Given the description of an element on the screen output the (x, y) to click on. 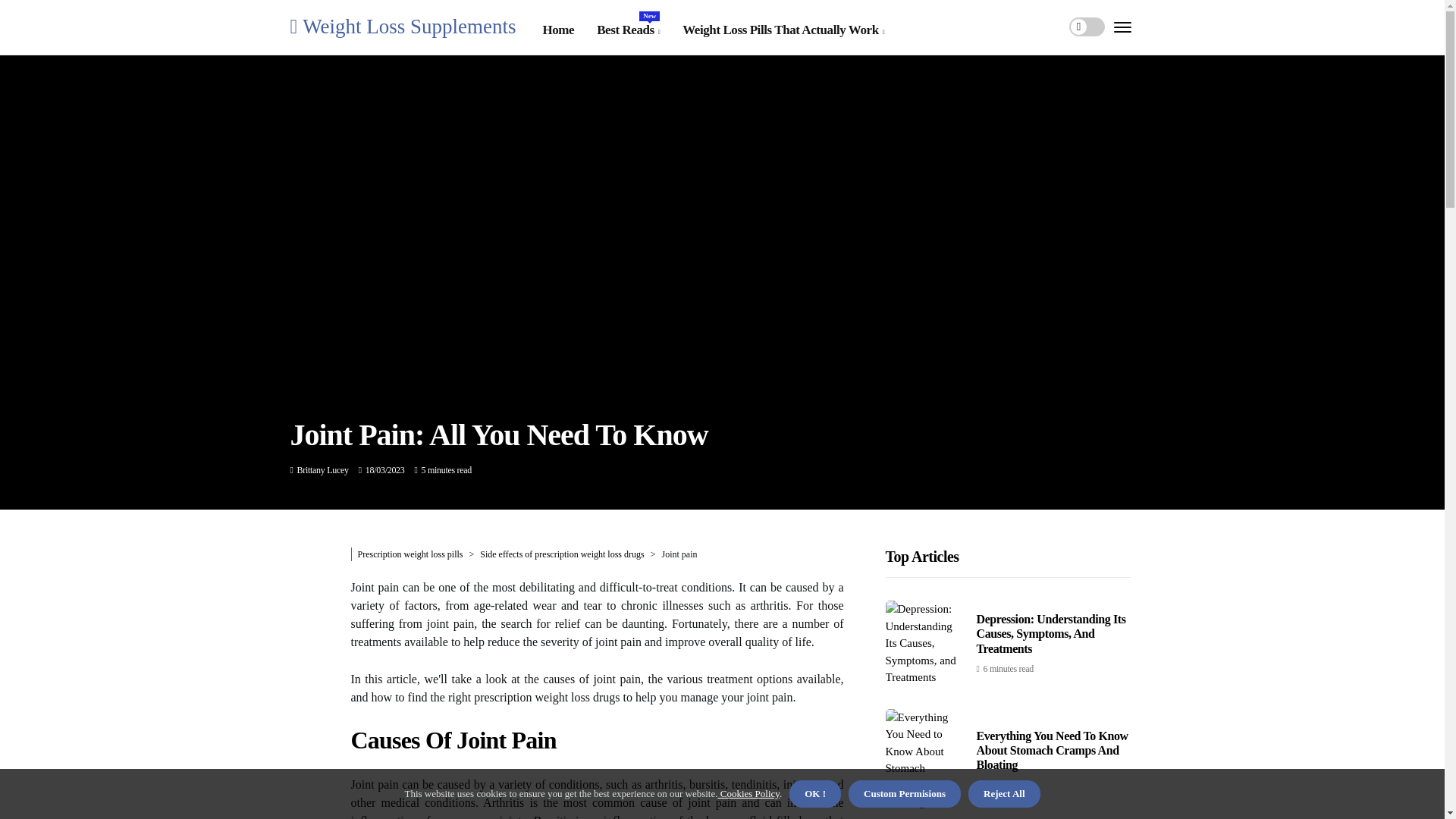
Weight Loss Pills That Actually Work (782, 30)
Posts by Brittany Lucey (323, 470)
Weight Loss Supplements (402, 26)
